Given the description of an element on the screen output the (x, y) to click on. 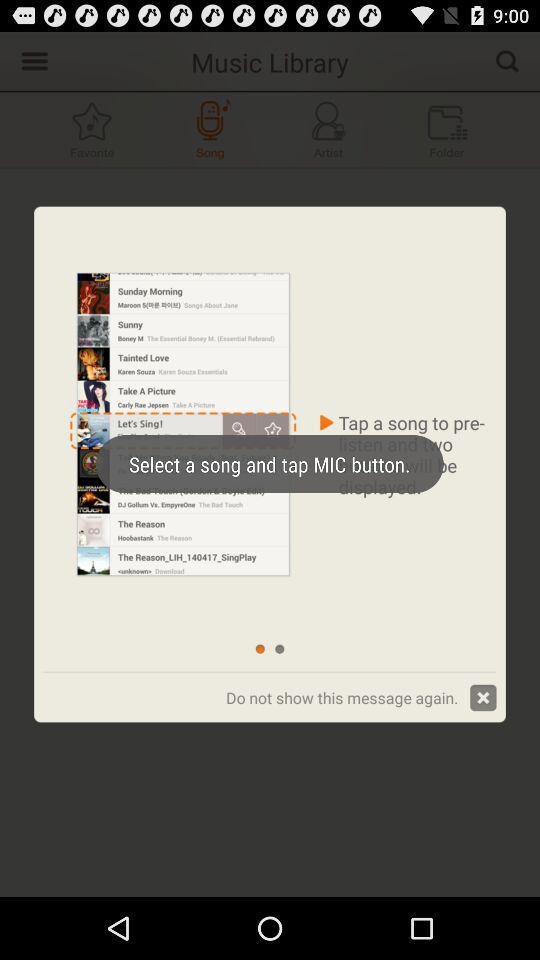
go to profile (328, 129)
